Given the description of an element on the screen output the (x, y) to click on. 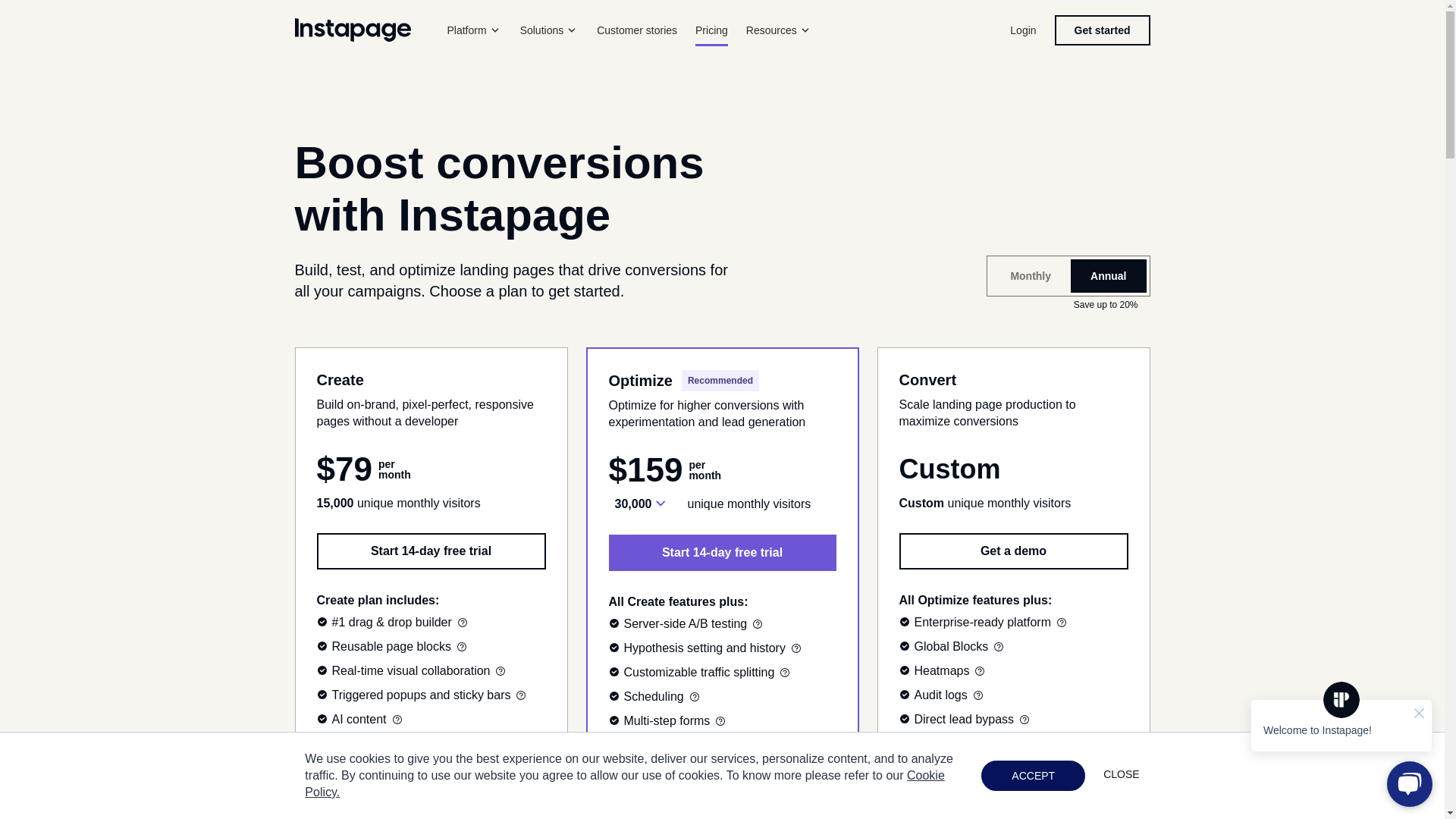
Customer stories (636, 30)
Get started (1102, 30)
Login (1022, 30)
Cookie Policy. (623, 783)
Pricing (711, 30)
